Given the description of an element on the screen output the (x, y) to click on. 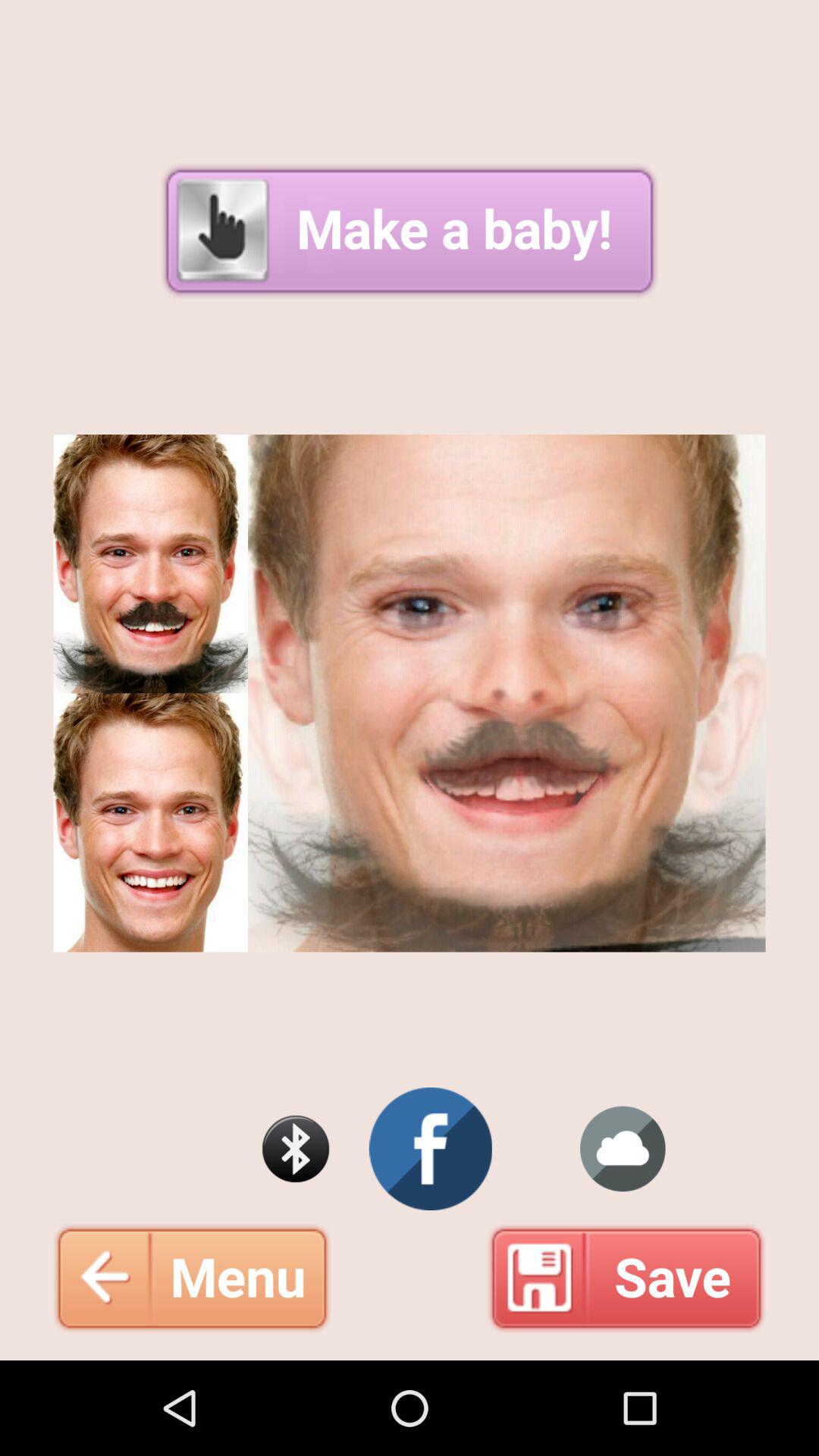
bluetooth (295, 1148)
